Given the description of an element on the screen output the (x, y) to click on. 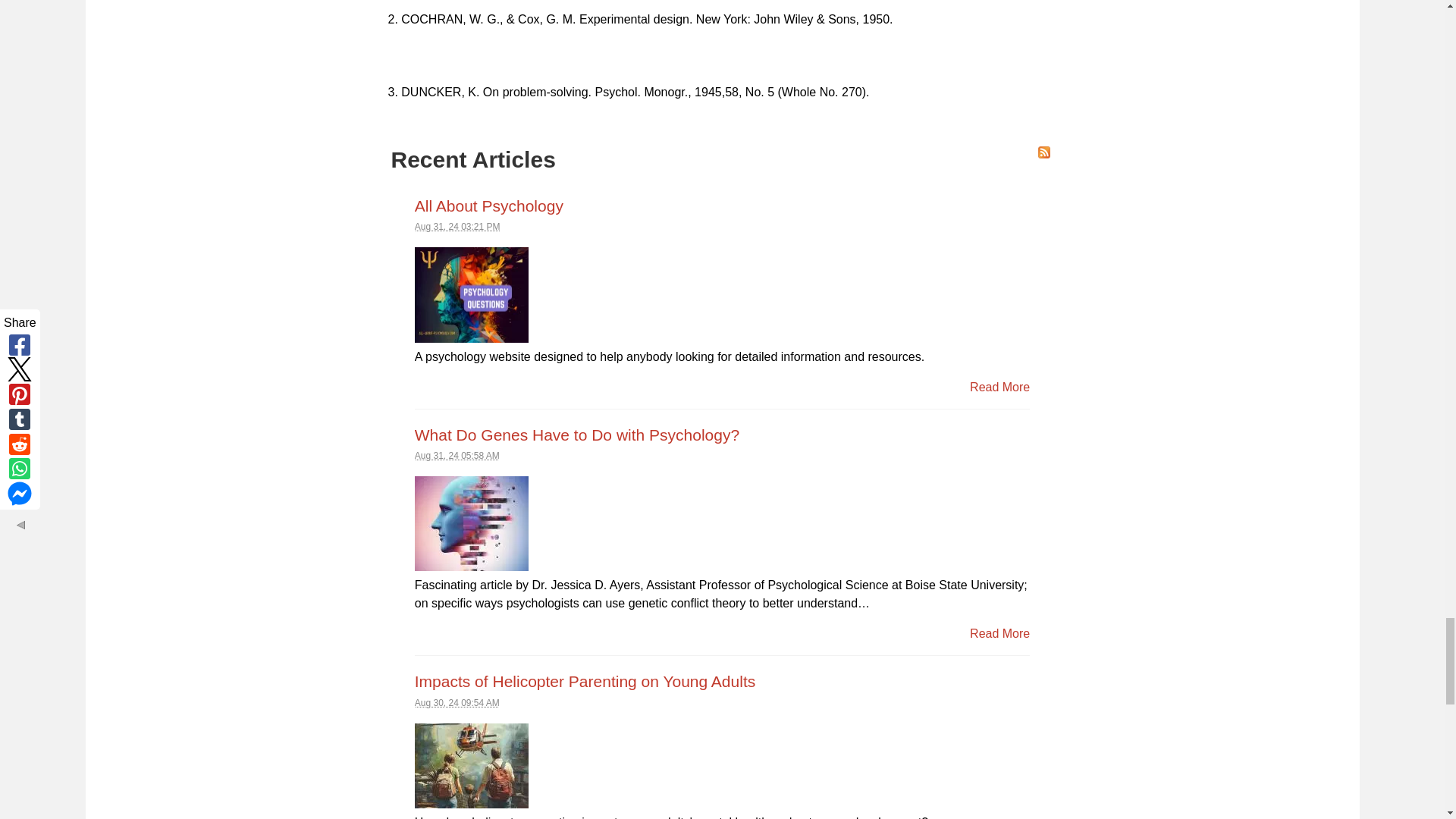
2024-08-31T15:21:50-0400 (457, 226)
2024-08-30T09:54:08-0400 (456, 702)
2024-08-31T05:58:51-0400 (456, 455)
